Given the description of an element on the screen output the (x, y) to click on. 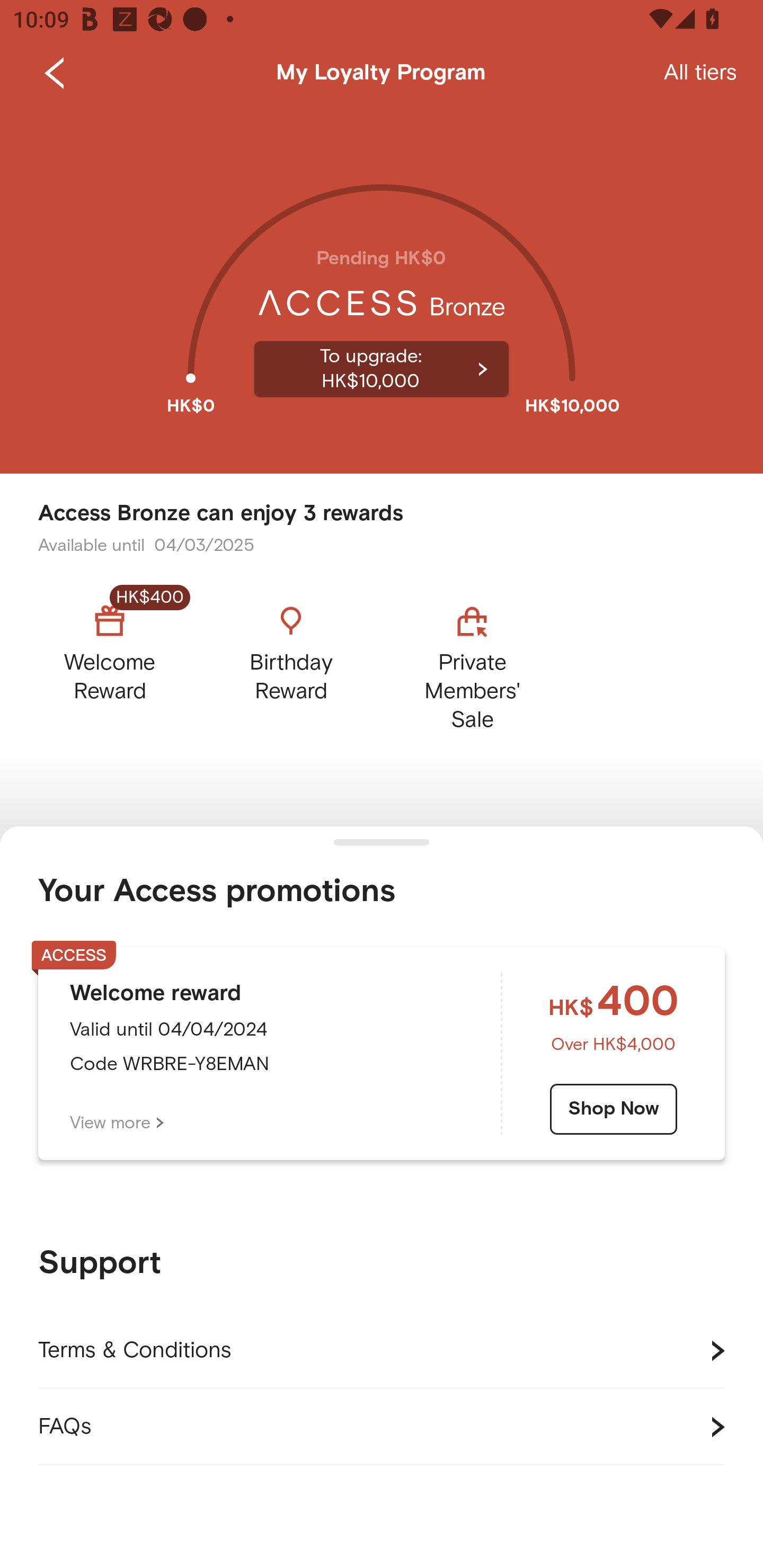
All tiers (700, 72)
HK$0 HK$10,000 Pending HK$0 To upgrade: HK$10,000 (381, 290)
HK$400 Welcome Reward (125, 662)
Birthday Reward (290, 662)
Private Members' Sale (471, 662)
Shop Now (613, 1109)
View more (117, 1123)
Terms & Conditions (381, 1350)
FAQs (381, 1426)
